Given the description of an element on the screen output the (x, y) to click on. 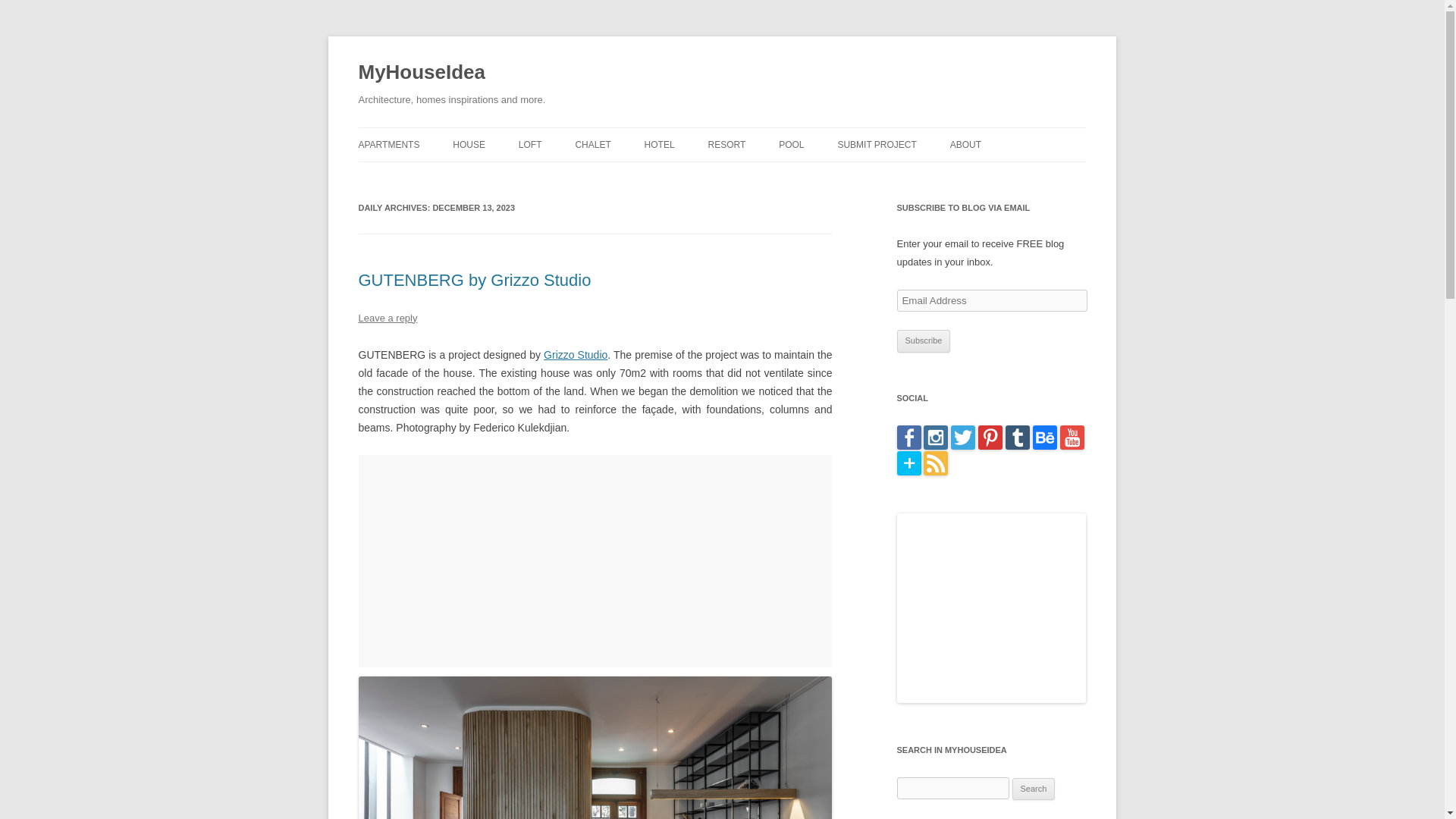
GUTENBERG by Grizzo Studio (474, 280)
Tumblr (1017, 445)
Grizzo Studio (575, 354)
MyHouseIdea (421, 72)
CHALET (592, 144)
ABOUT (965, 144)
Advertisement (594, 561)
Search (1033, 789)
